Given the description of an element on the screen output the (x, y) to click on. 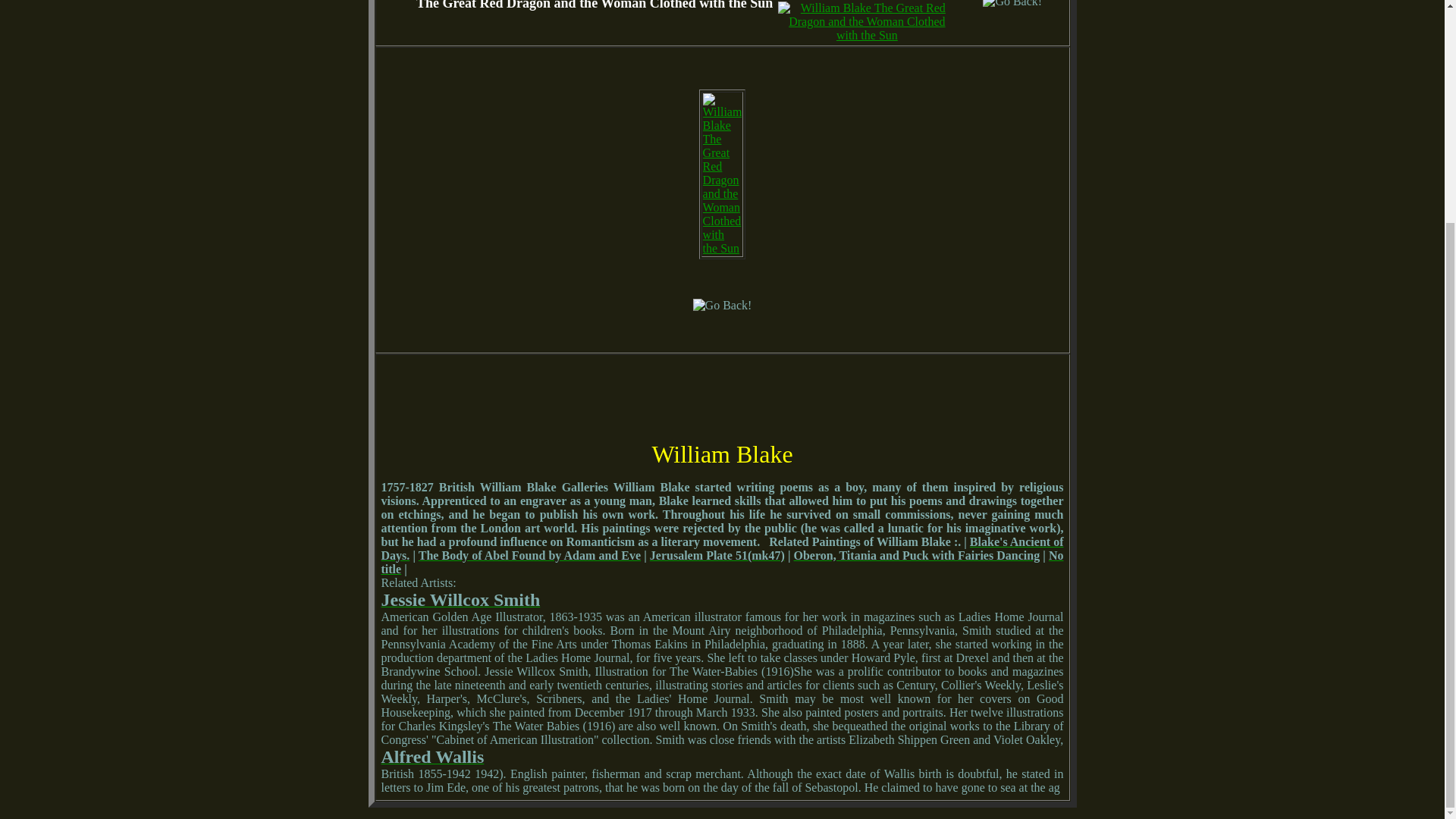
Blake's Ancient of Days. (721, 548)
Oberon, Titania and Puck with Fairies Dancing (917, 554)
Alfred Wallis (431, 758)
No title (721, 561)
The Body of Abel Found by Adam and Eve (529, 554)
Jessie Willcox Smith (460, 601)
